Given the description of an element on the screen output the (x, y) to click on. 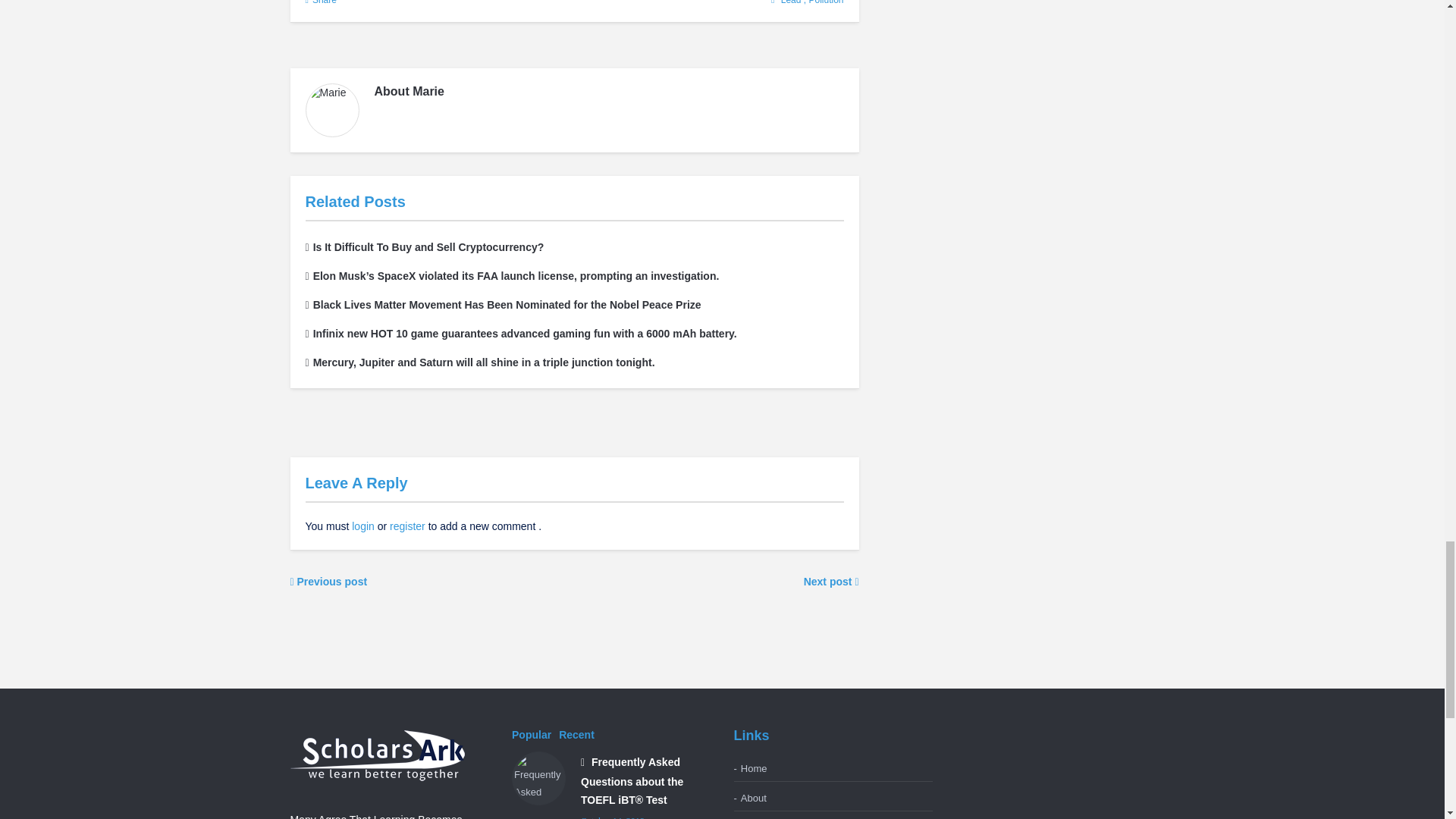
Is It Difficult To Buy and Sell Cryptocurrency? (423, 246)
